Given the description of an element on the screen output the (x, y) to click on. 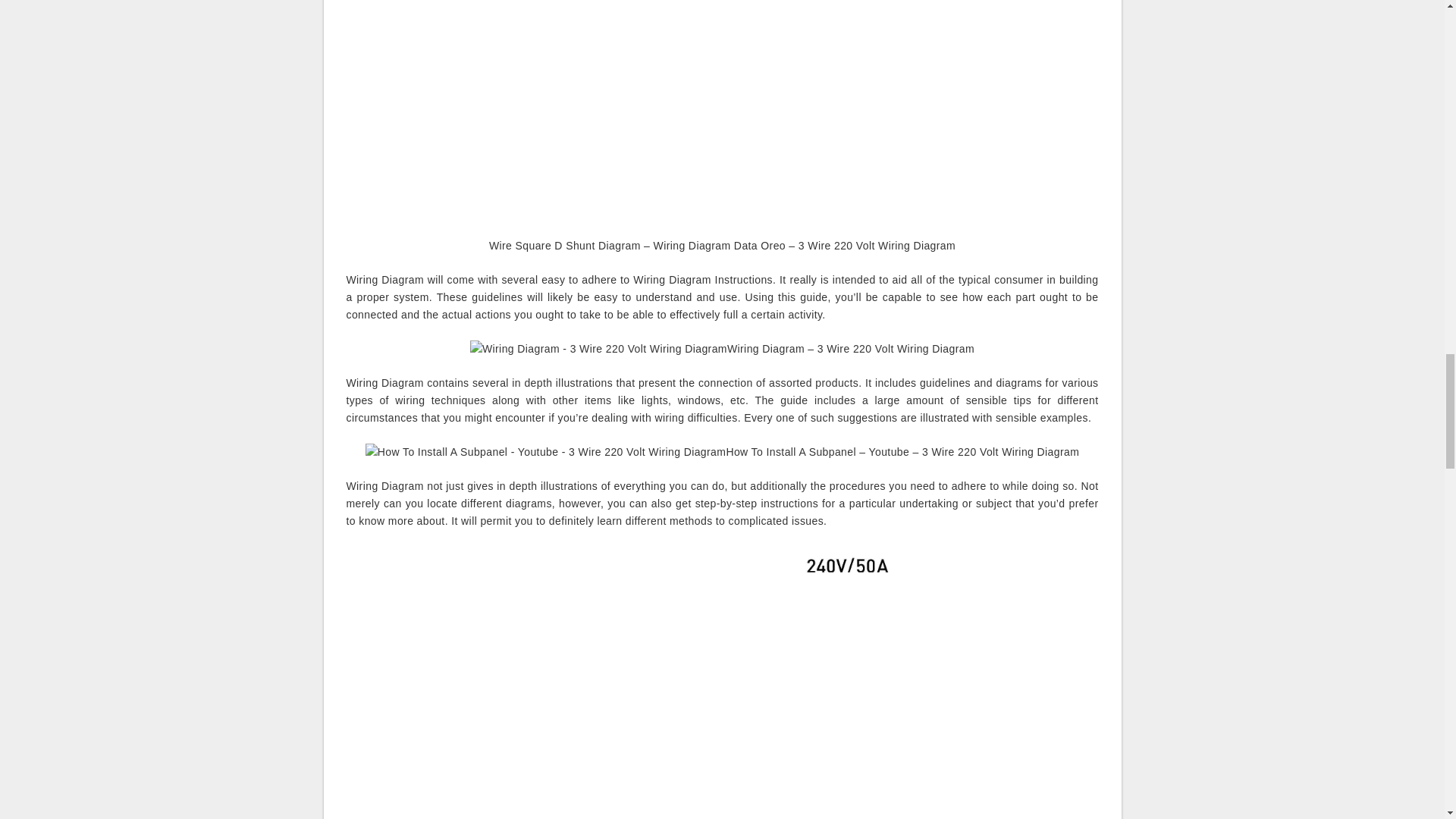
wiring diagram 3 wire 220 volt wiring diagram (598, 348)
